Given the description of an element on the screen output the (x, y) to click on. 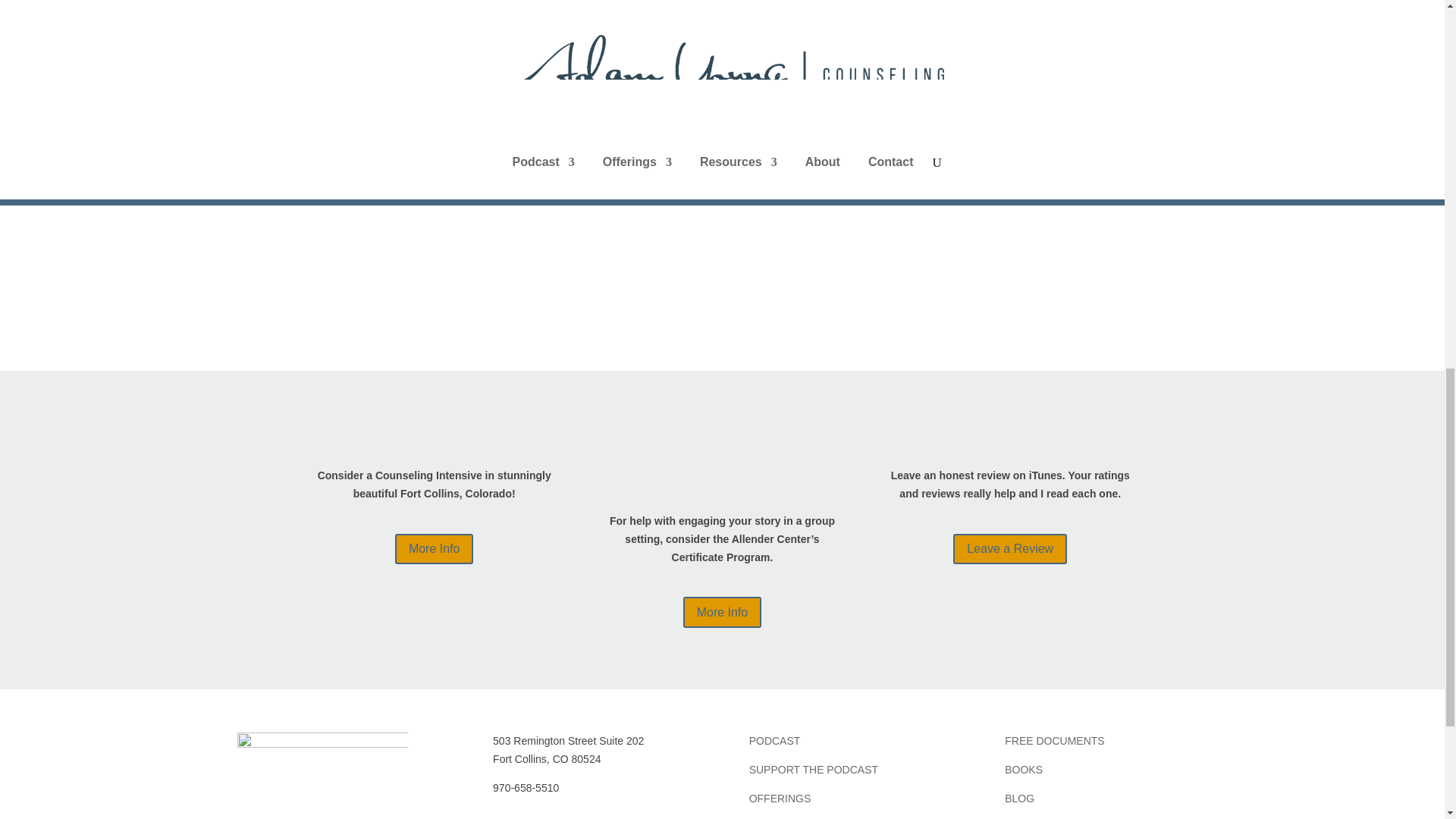
Leave a Review (1010, 549)
More Info (721, 612)
BOOKS (1023, 769)
BLOG (1018, 798)
More Info (434, 549)
PODCAST (774, 740)
SUPPORT THE PODCAST (813, 769)
OFFERINGS (779, 798)
FREE DOCUMENTS (1053, 740)
